Given the description of an element on the screen output the (x, y) to click on. 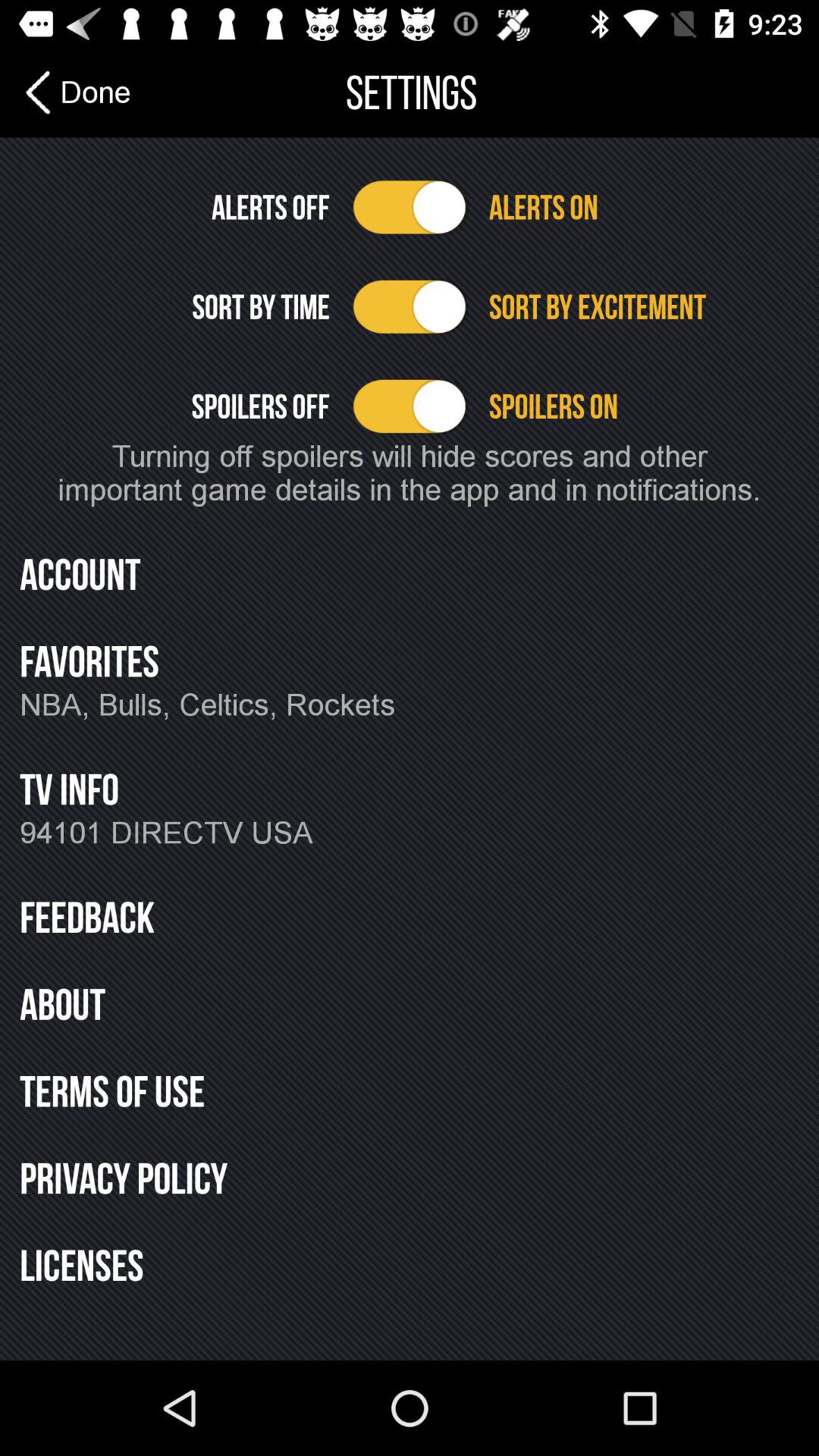
toggle sort by option (409, 306)
